Given the description of an element on the screen output the (x, y) to click on. 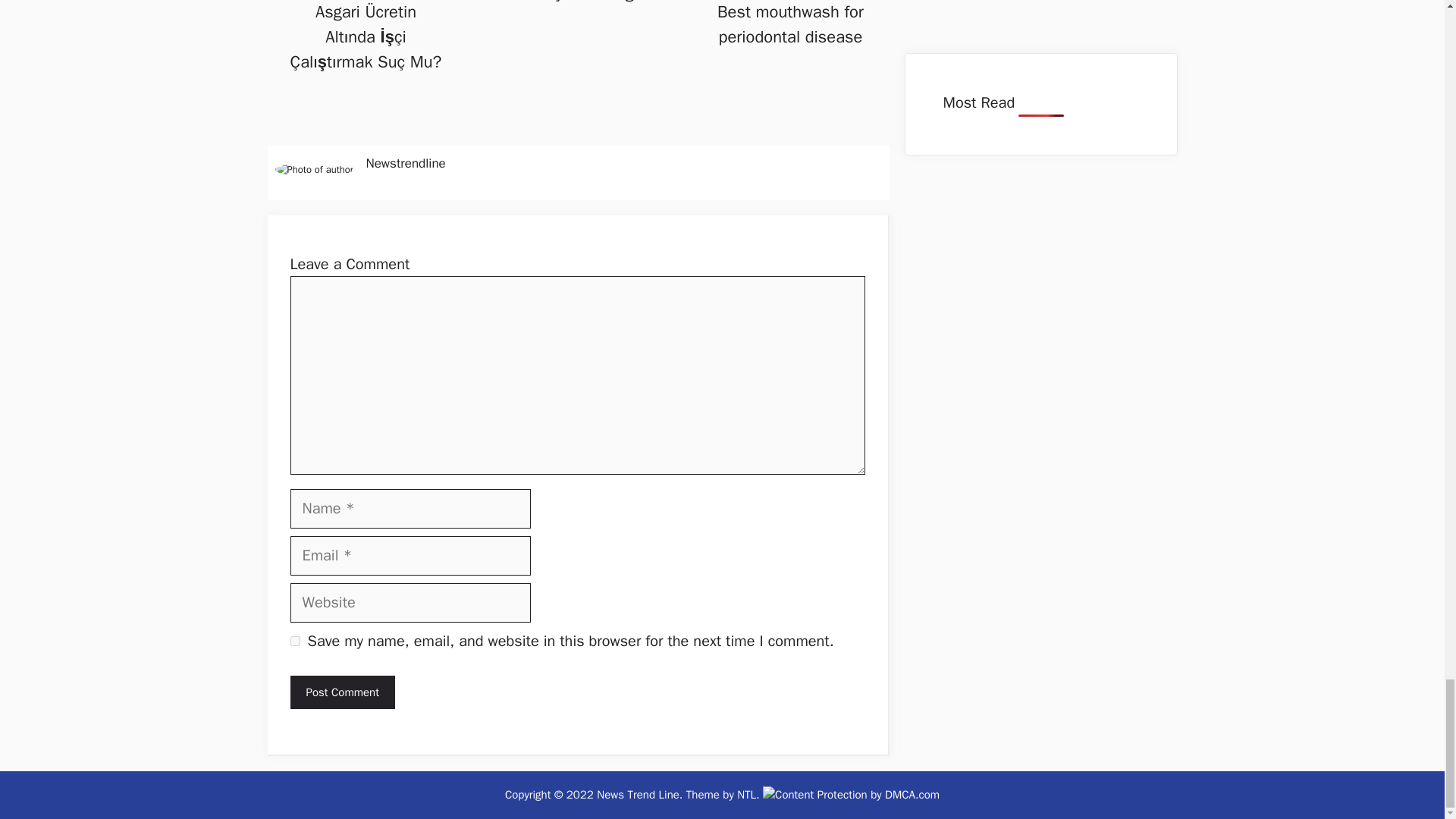
Best mouthwash for periodontal disease (790, 24)
Newstrendline (405, 163)
Post Comment (341, 692)
Post Comment (341, 692)
yes (294, 641)
dui lawyer las vegas (577, 2)
Content Protection by DMCA.com (850, 794)
